Given the description of an element on the screen output the (x, y) to click on. 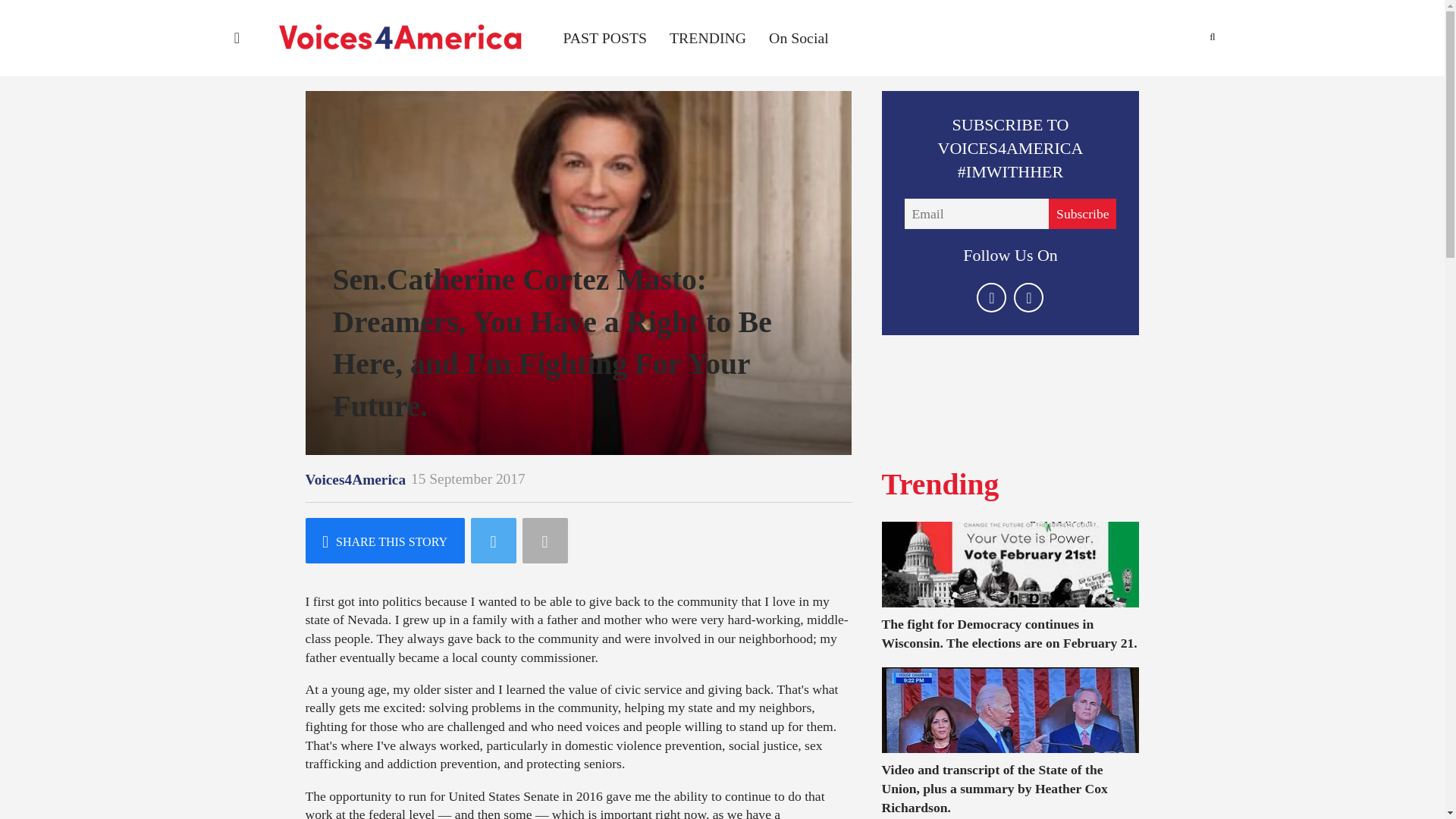
voices 4 america (399, 38)
On Social (798, 38)
PAST POSTS (604, 38)
TRENDING (707, 38)
Voices4America (355, 479)
